Given the description of an element on the screen output the (x, y) to click on. 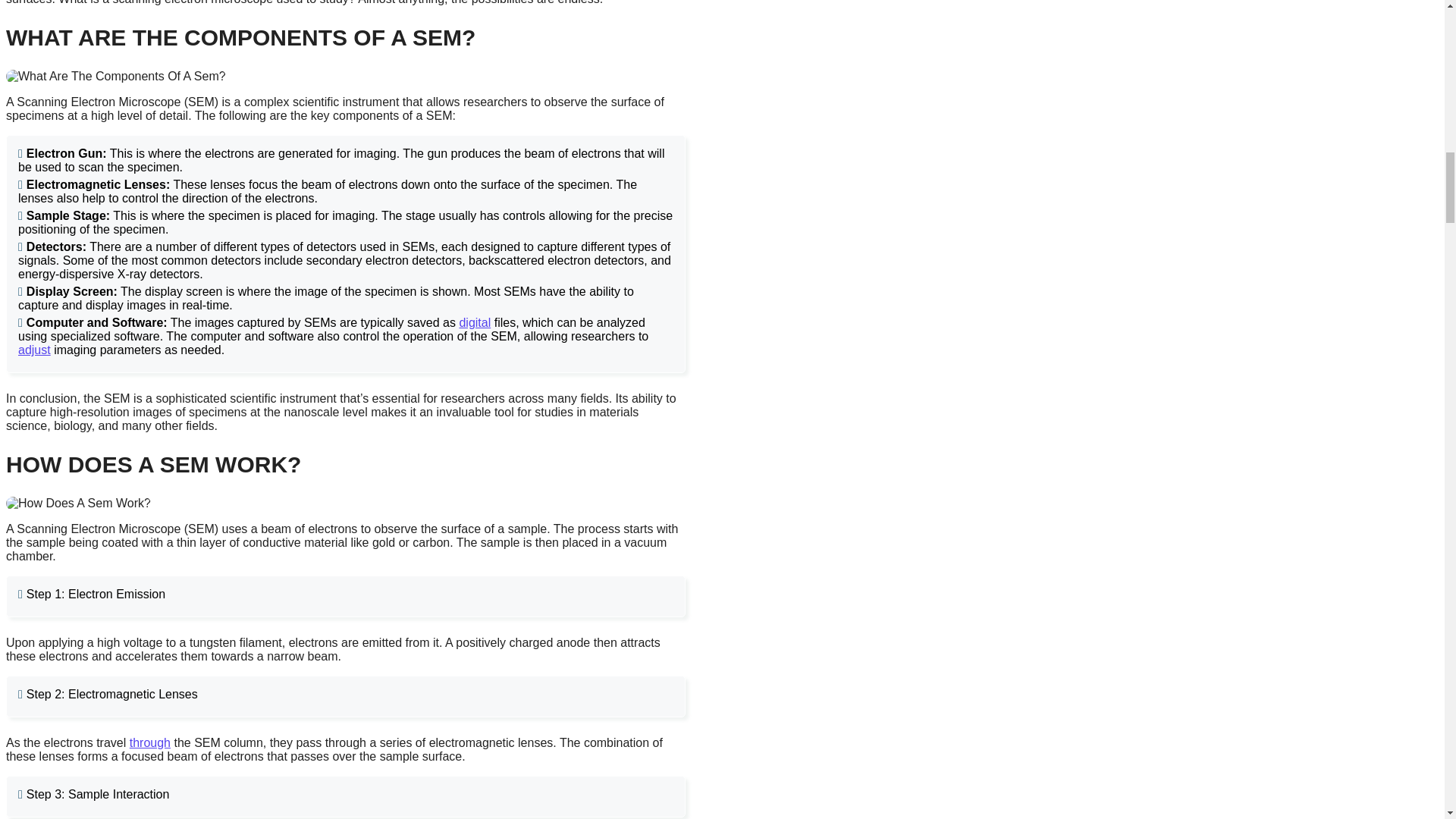
adjust (33, 349)
digital (474, 322)
through (149, 742)
